Given the description of an element on the screen output the (x, y) to click on. 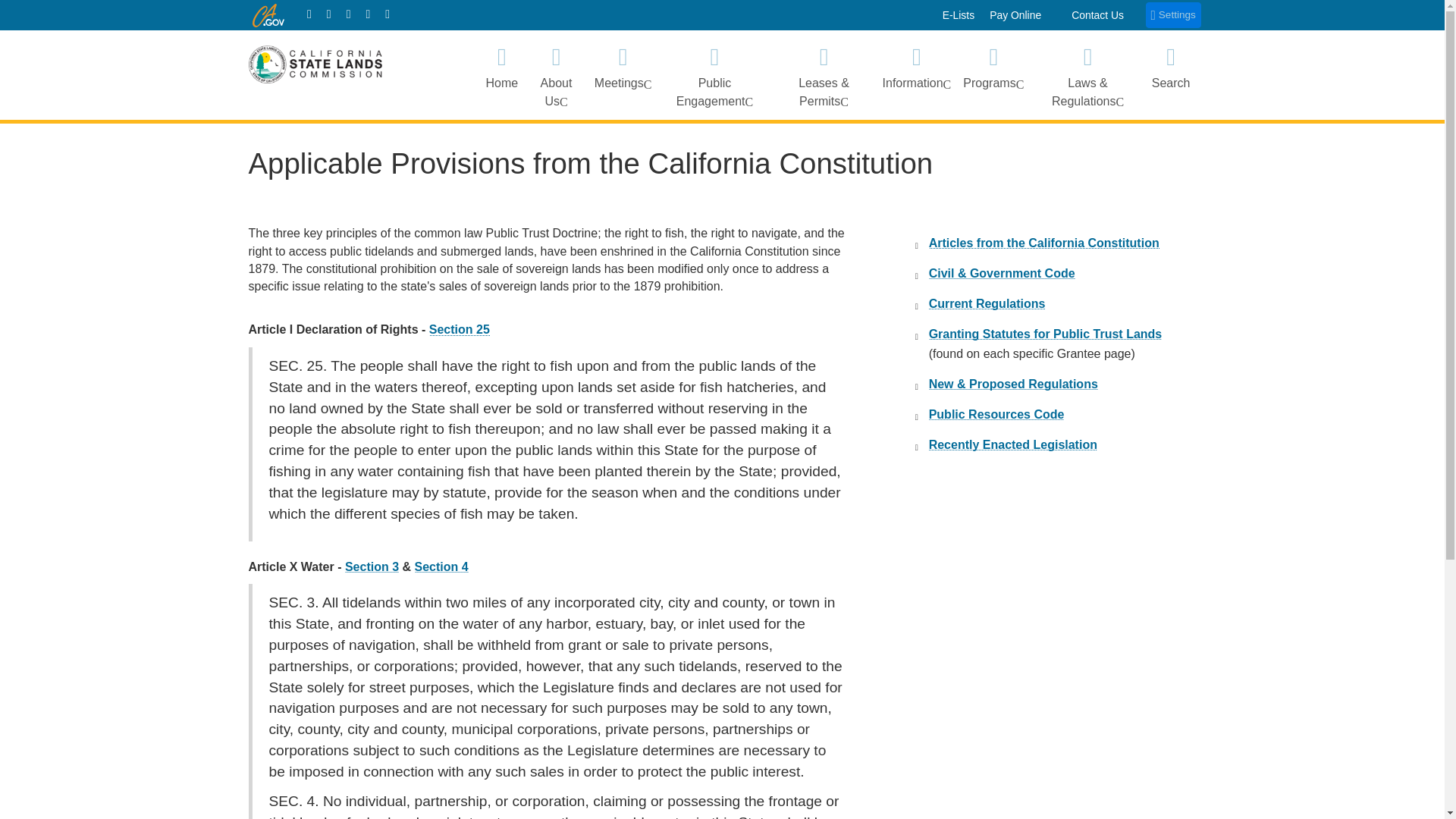
Home (309, 13)
Settings (1173, 14)
Home (309, 13)
Meetings (623, 74)
CA.gov (267, 13)
About Us (555, 74)
Share via LinkedIn (387, 13)
Home (501, 74)
Share via LinkedIn (387, 13)
Contact Us (1097, 14)
E-Lists (958, 14)
CA.gov website (267, 13)
Pay Online (1015, 14)
